Given the description of an element on the screen output the (x, y) to click on. 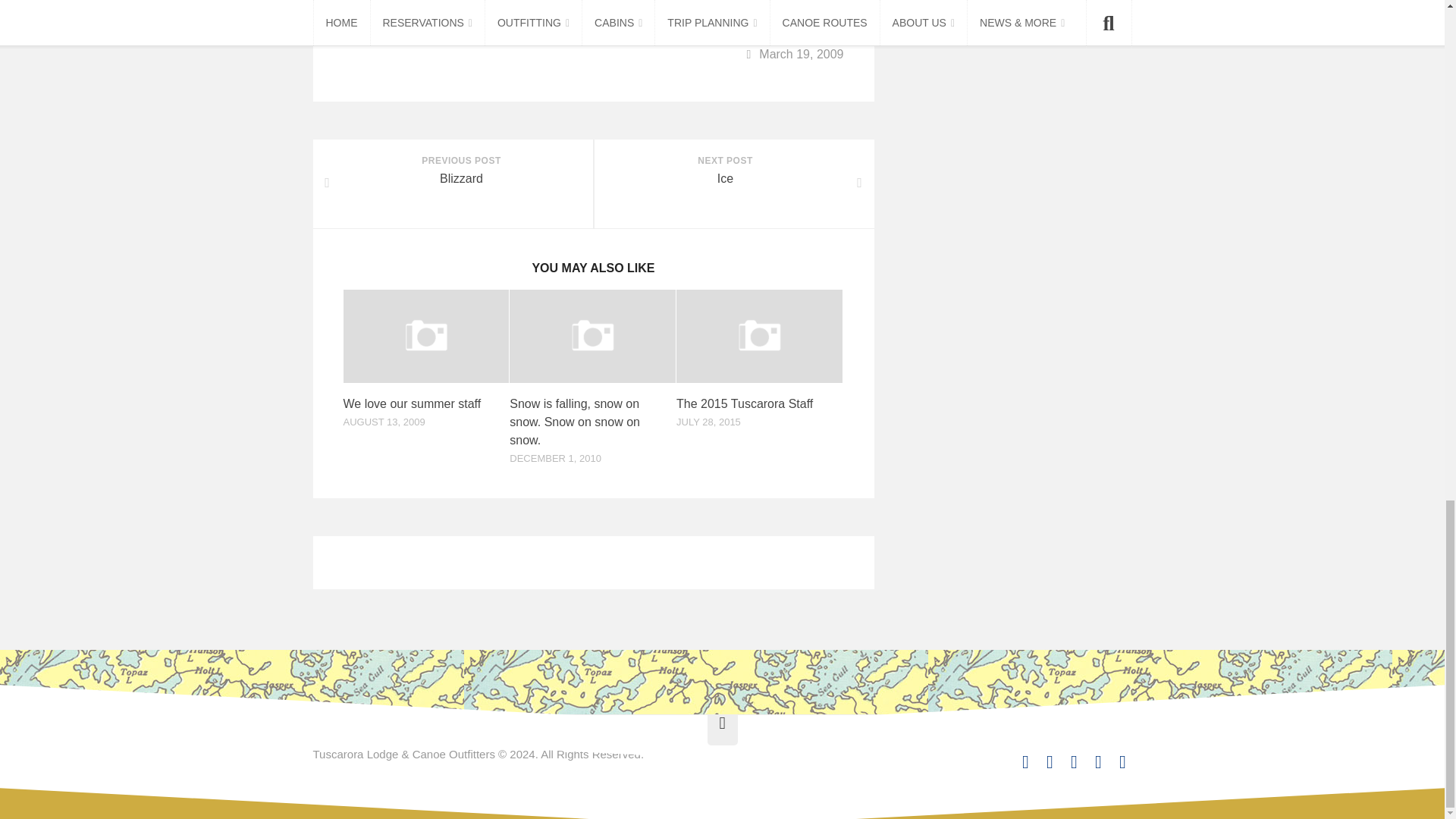
Click to share on Pinterest (606, 12)
Click to share on Facebook (380, 12)
Click to share on Twitter (533, 12)
Click to share on LinkedIn (461, 12)
